Given the description of an element on the screen output the (x, y) to click on. 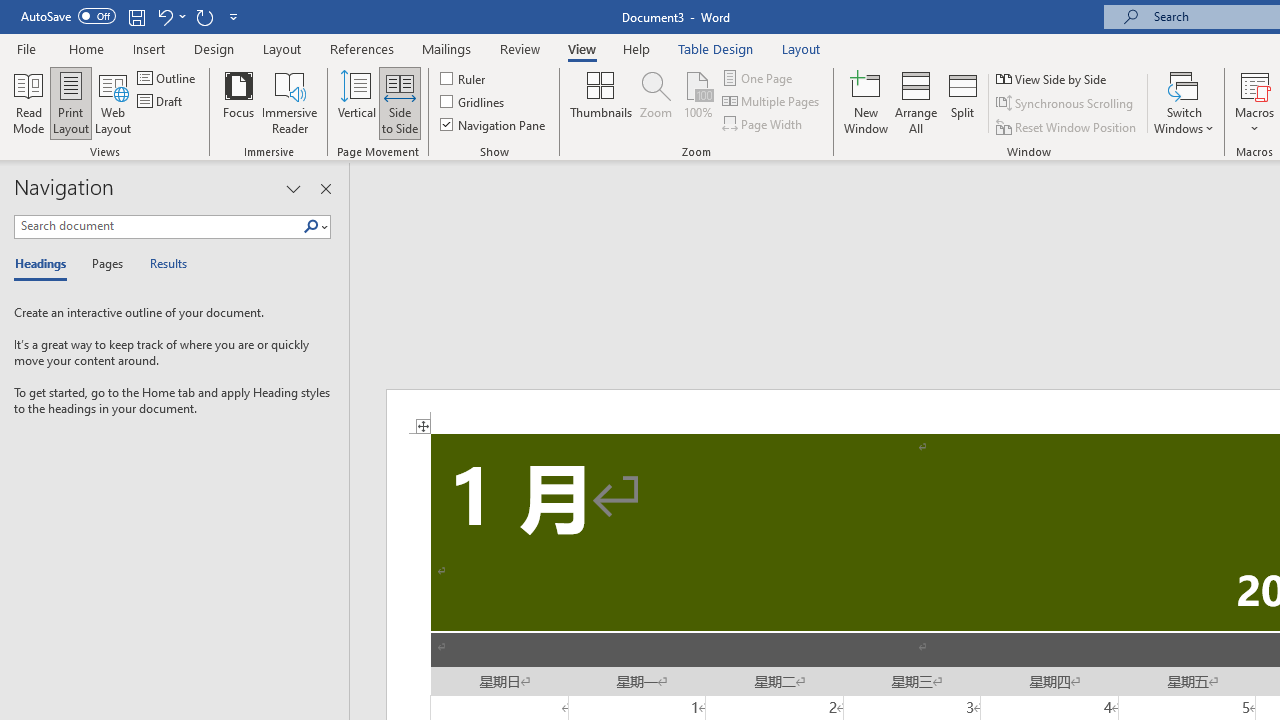
Ruler (463, 78)
Draft (161, 101)
New Window (866, 102)
Side to Side (399, 102)
Focus (238, 102)
Thumbnails (601, 102)
